Given the description of an element on the screen output the (x, y) to click on. 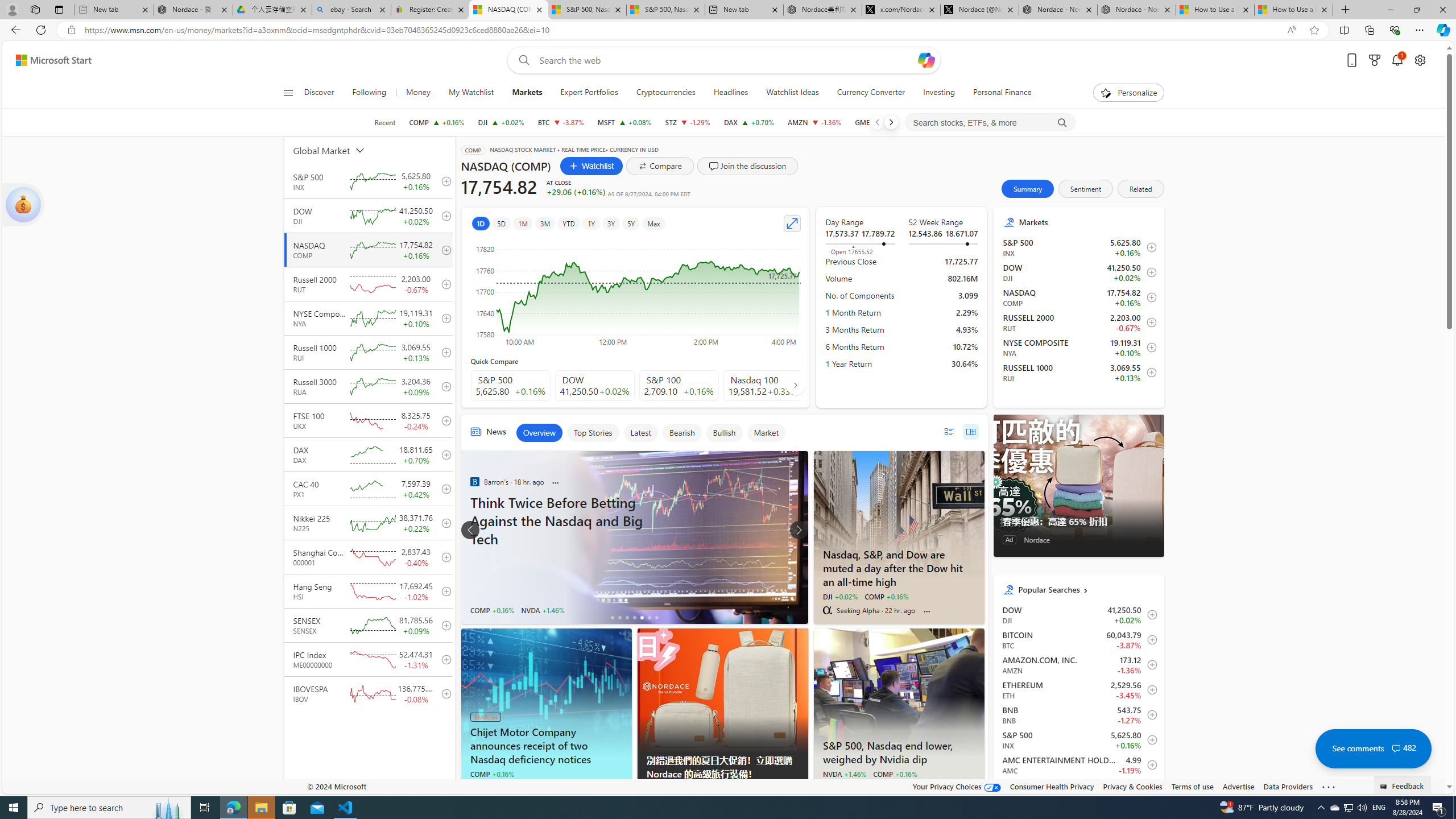
Currency Converter (870, 92)
Register: Create a personal eBay account (429, 9)
Markets (1086, 222)
Investing (937, 92)
Class: button-glyph (287, 92)
See comments 482 (1372, 748)
